Given the description of an element on the screen output the (x, y) to click on. 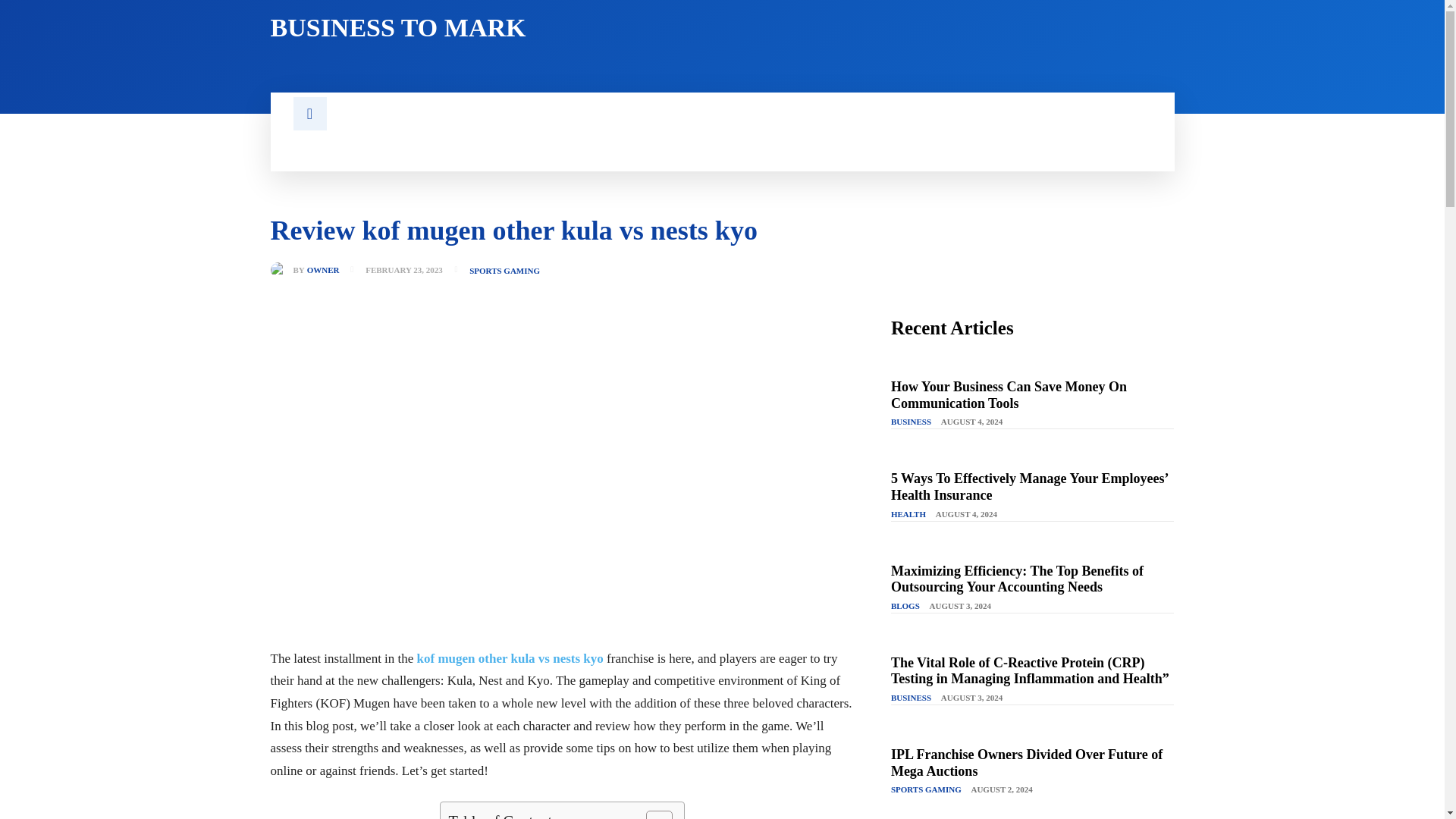
BUSINESS TO MARK (486, 27)
